Given the description of an element on the screen output the (x, y) to click on. 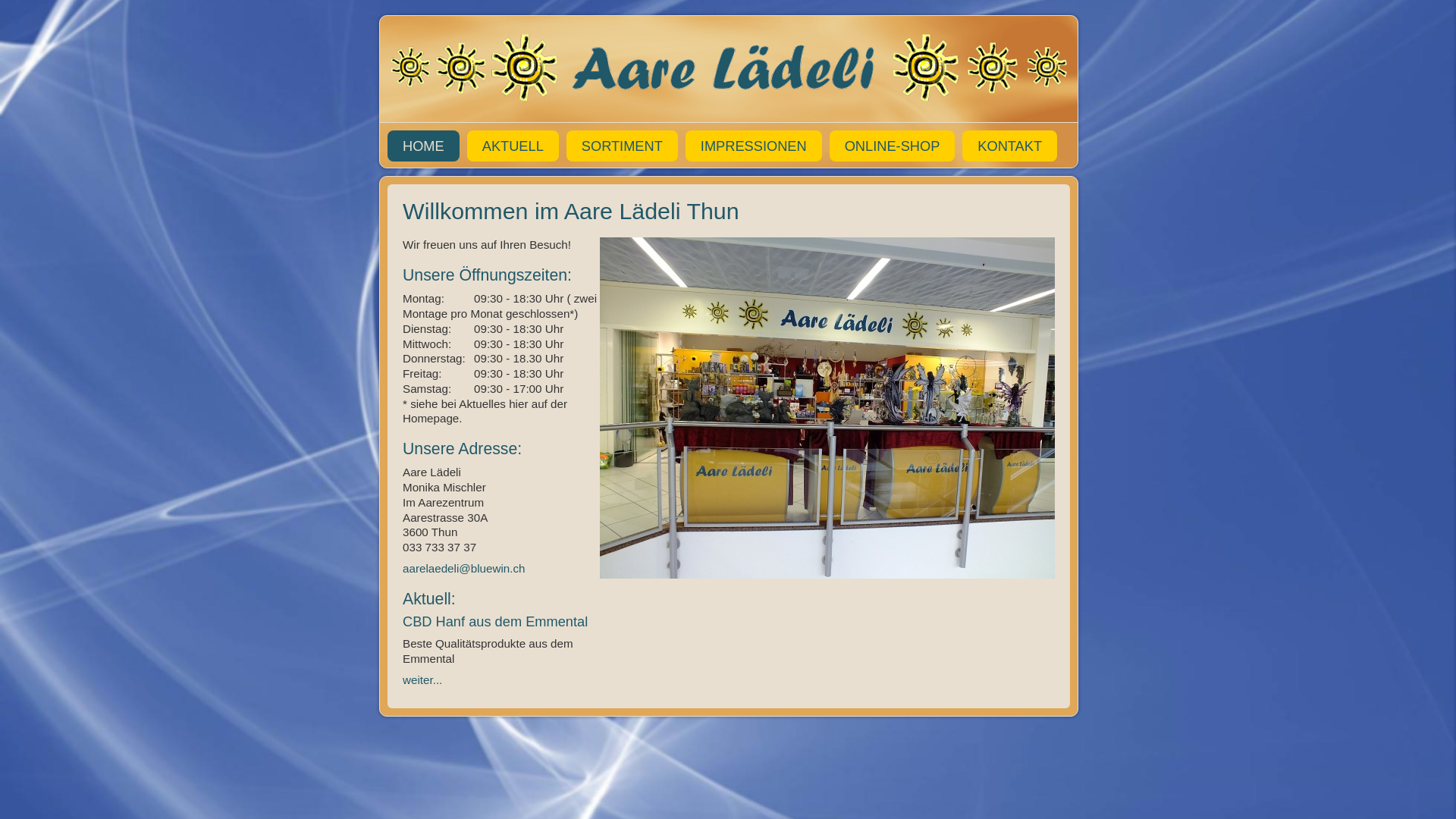
KONTAKT Element type: text (1009, 145)
ONLINE-SHOP Element type: text (892, 145)
SORTIMENT Element type: text (621, 145)
AKTUELL Element type: text (512, 145)
weiter... Element type: text (422, 679)
HOME Element type: text (423, 145)
aarelaedeli@bluewin.ch  Element type: text (465, 567)
IMPRESSIONEN Element type: text (753, 145)
